Given the description of an element on the screen output the (x, y) to click on. 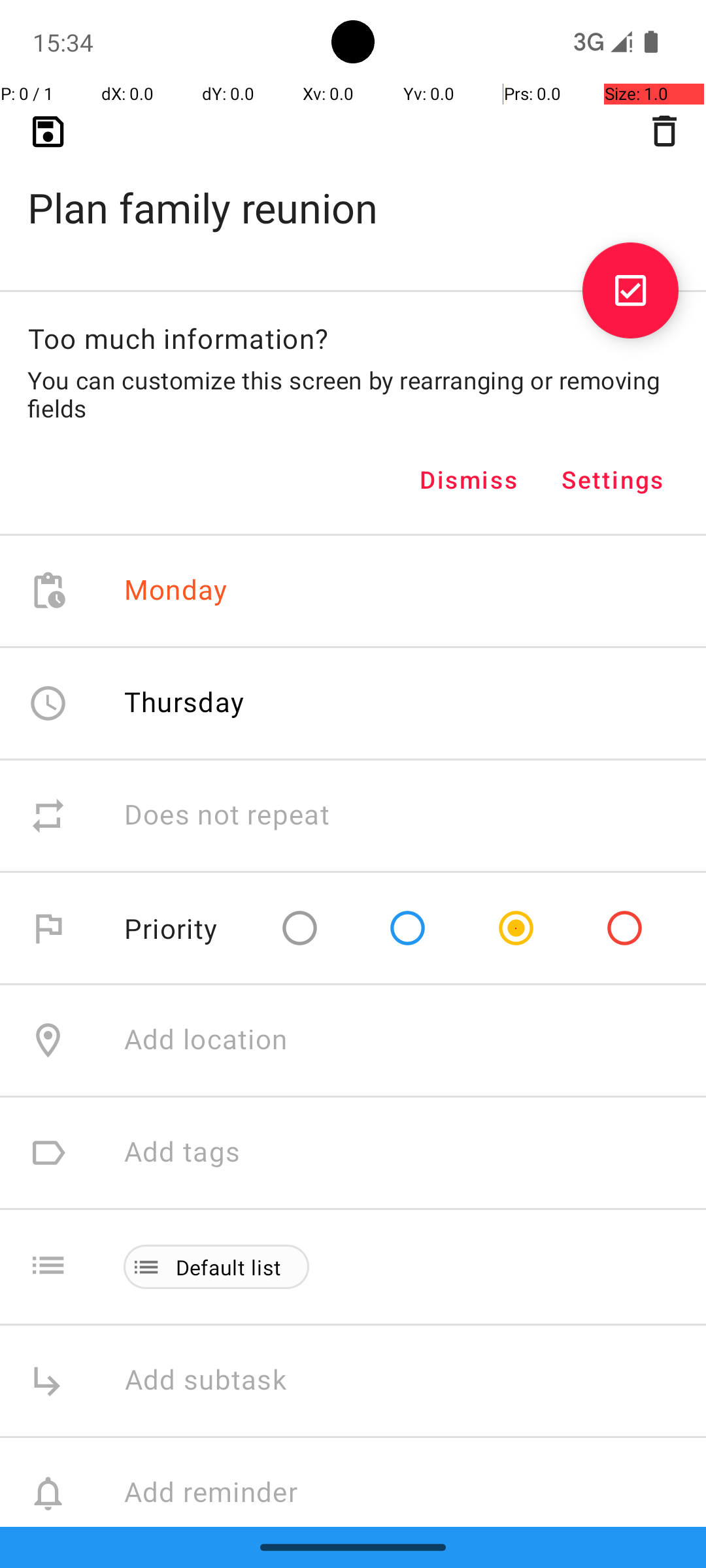
Plan family reunion Element type: android.widget.EditText (353, 186)
